Given the description of an element on the screen output the (x, y) to click on. 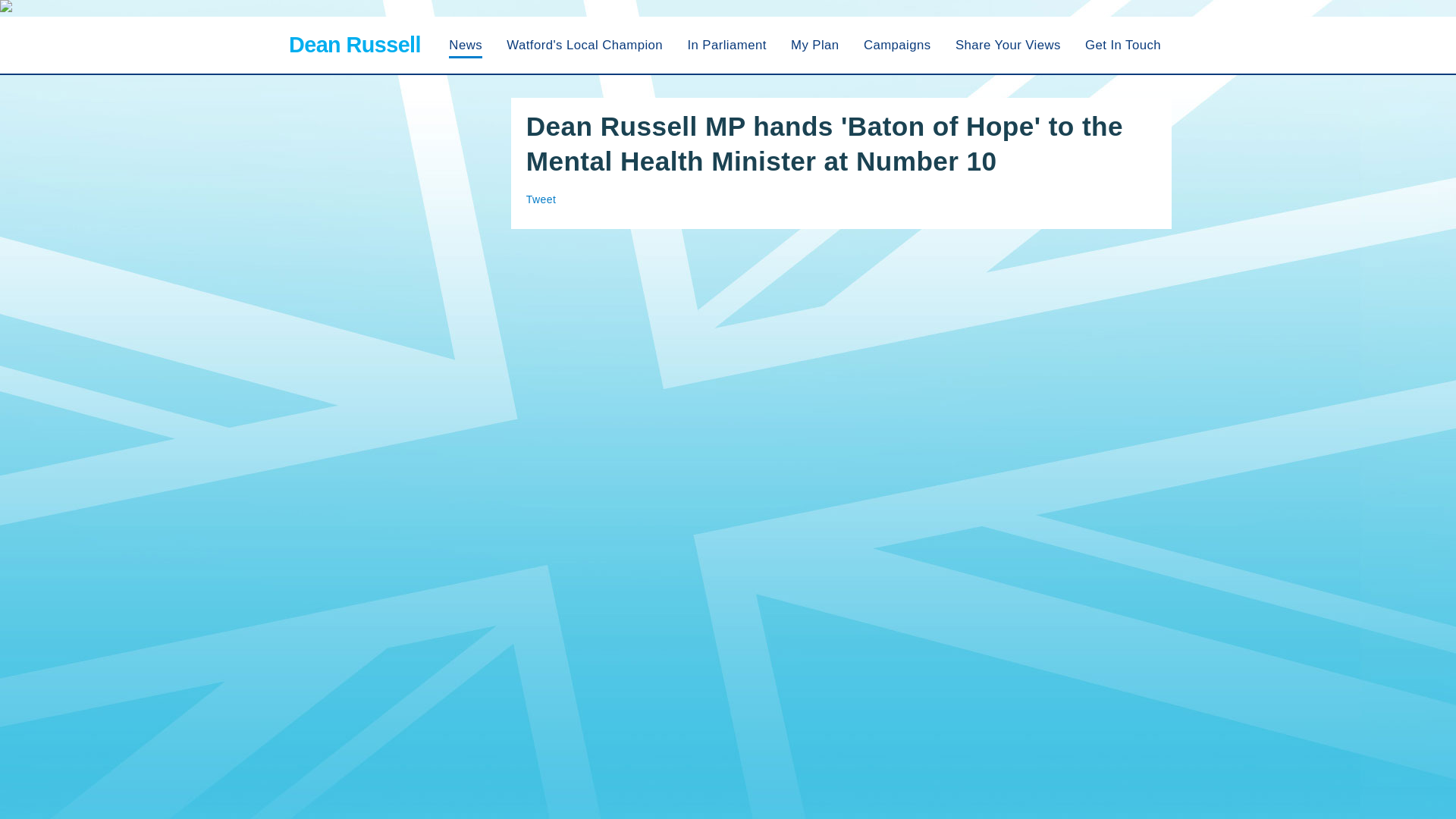
In Parliament (726, 44)
My Plan (815, 44)
Campaigns (897, 44)
About Dean Russell - Conservative candidate for Watford (584, 44)
Surveys (1008, 44)
Dean Russell (351, 44)
Share Your Views (1008, 44)
Tweet (540, 199)
Campaigns (897, 44)
